Given the description of an element on the screen output the (x, y) to click on. 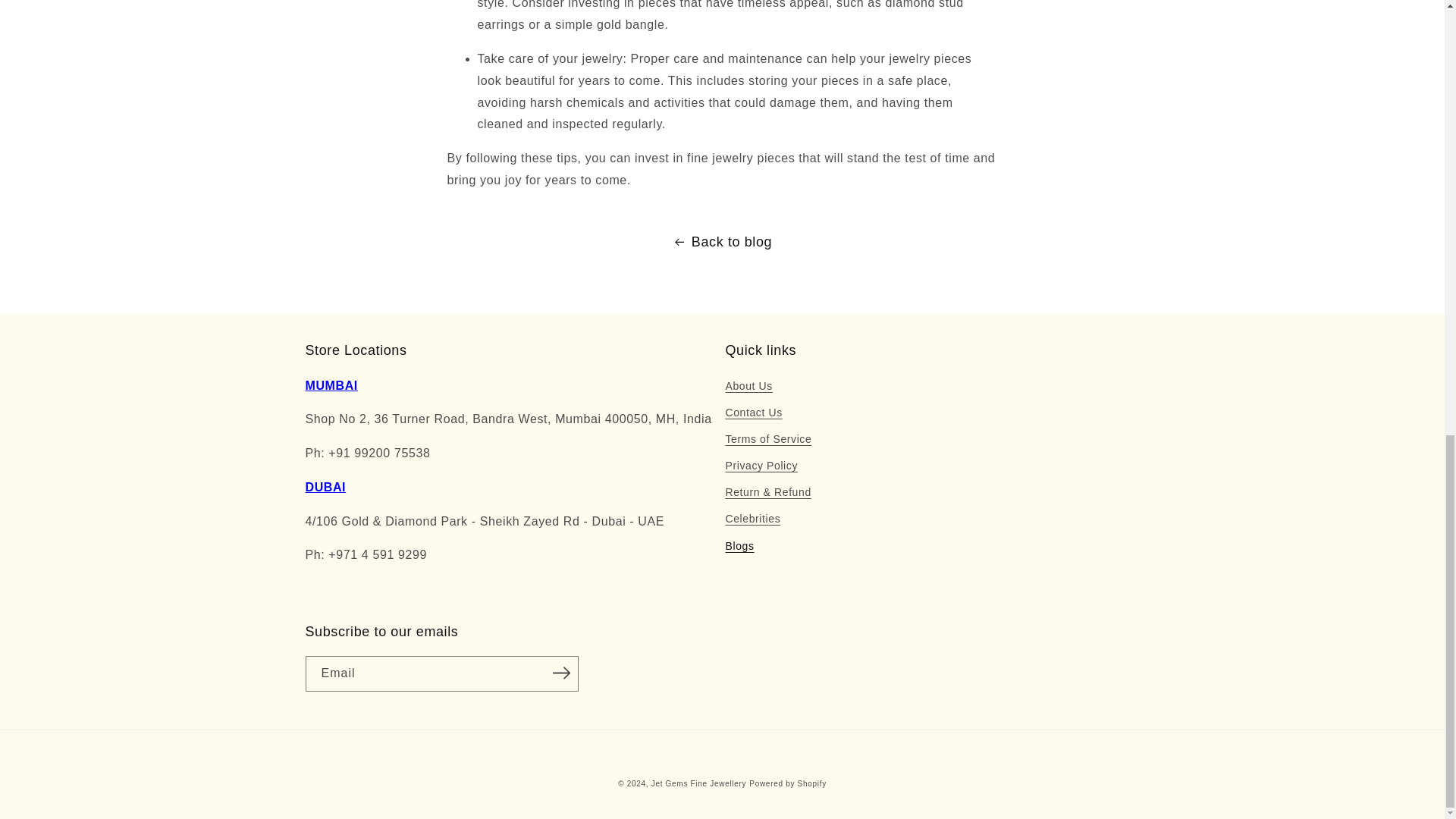
DUBAI (325, 486)
Contact Us (753, 412)
Jet Gems Fine Jewellery Location Dubai UAE (325, 486)
MUMBAI (330, 385)
Jet Gems Fine Jewellery Mumbai Location (330, 385)
Terms of Service (767, 438)
About Us (748, 386)
